Given the description of an element on the screen output the (x, y) to click on. 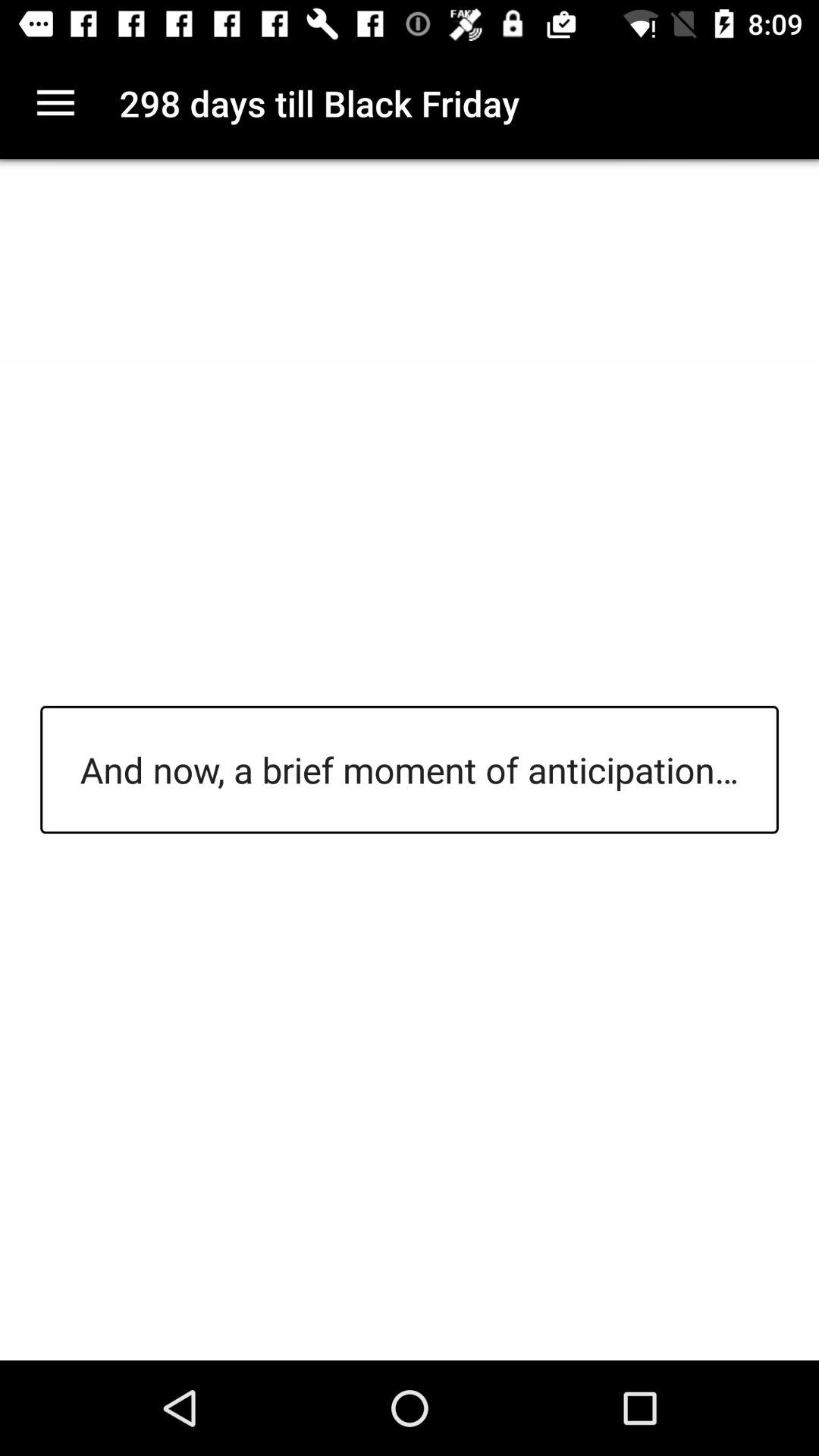
launch icon above and now a icon (55, 103)
